Given the description of an element on the screen output the (x, y) to click on. 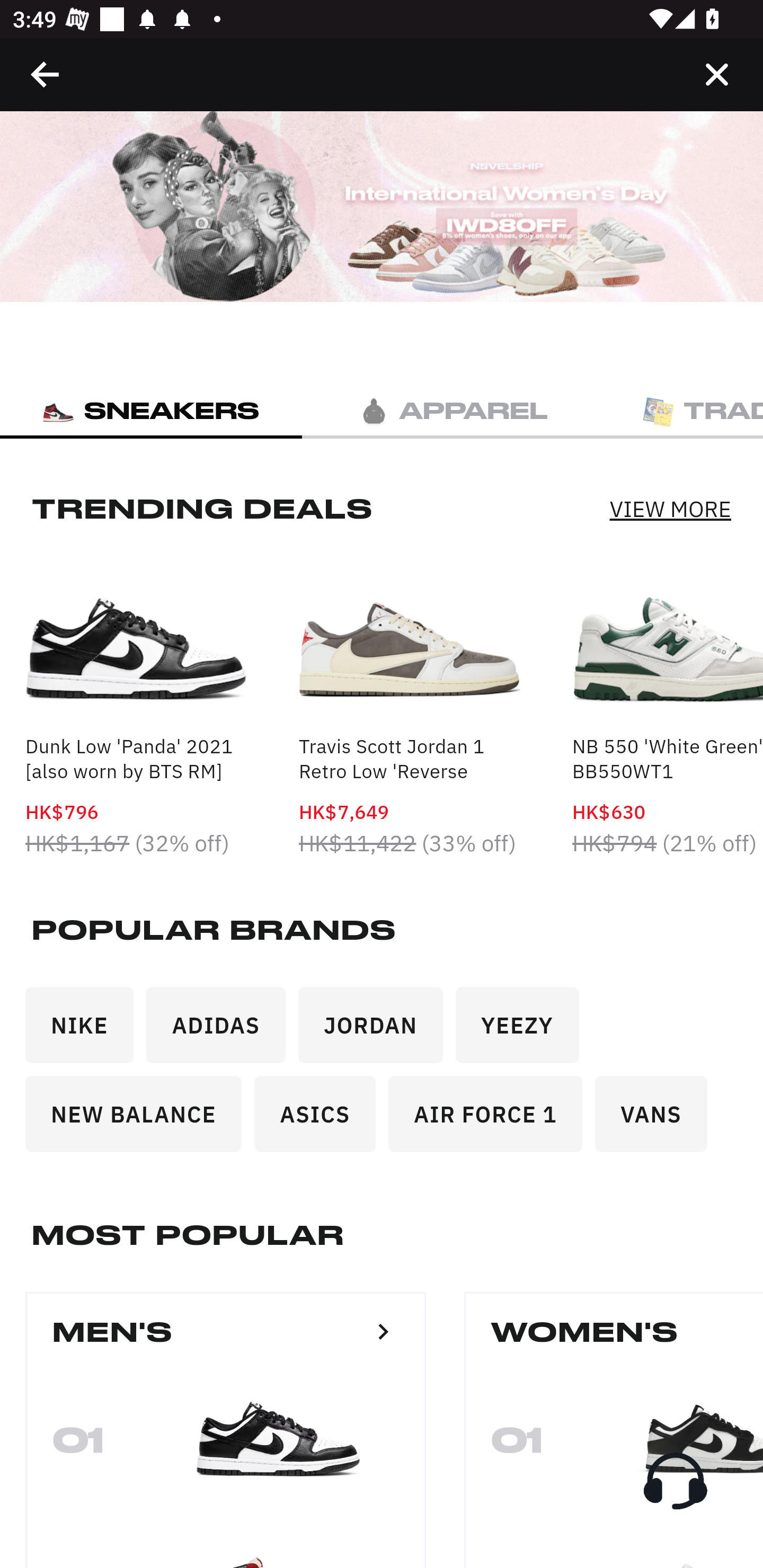
 (46, 74)
 (716, 74)
International Women's Day (381, 206)
SNEAKERS (151, 410)
APPAREL (453, 410)
TRADING CARDS (683, 410)
VIEW MORE (669, 507)
NIKE (86, 1030)
ADIDAS (222, 1030)
JORDAN (376, 1030)
YEEZY (523, 1030)
NEW BALANCE (140, 1120)
ASICS (321, 1120)
AIR FORCE 1 (491, 1120)
VANS (657, 1120)
sneakers?sort=mostPopular&gender=men (383, 1330)
Nova Your Virtual Assistant! button (674, 1480)
